Given the description of an element on the screen output the (x, y) to click on. 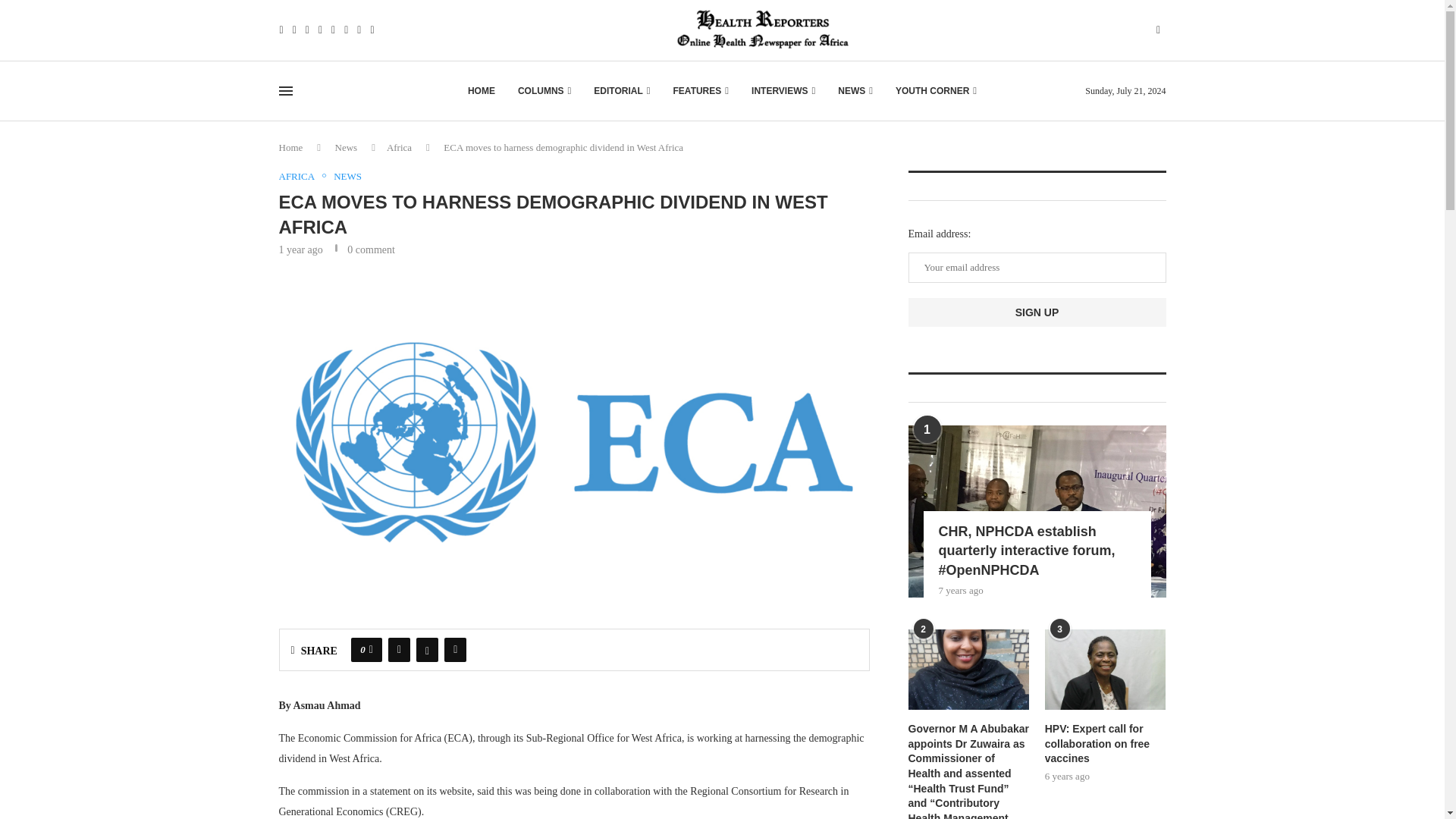
Like (370, 649)
COLUMNS (544, 90)
INTERVIEWS (783, 90)
NEWS (855, 90)
Sign up (1037, 312)
HOME (481, 90)
YOUTH CORNER (935, 90)
FEATURES (700, 90)
EDITORIAL (621, 90)
